Given the description of an element on the screen output the (x, y) to click on. 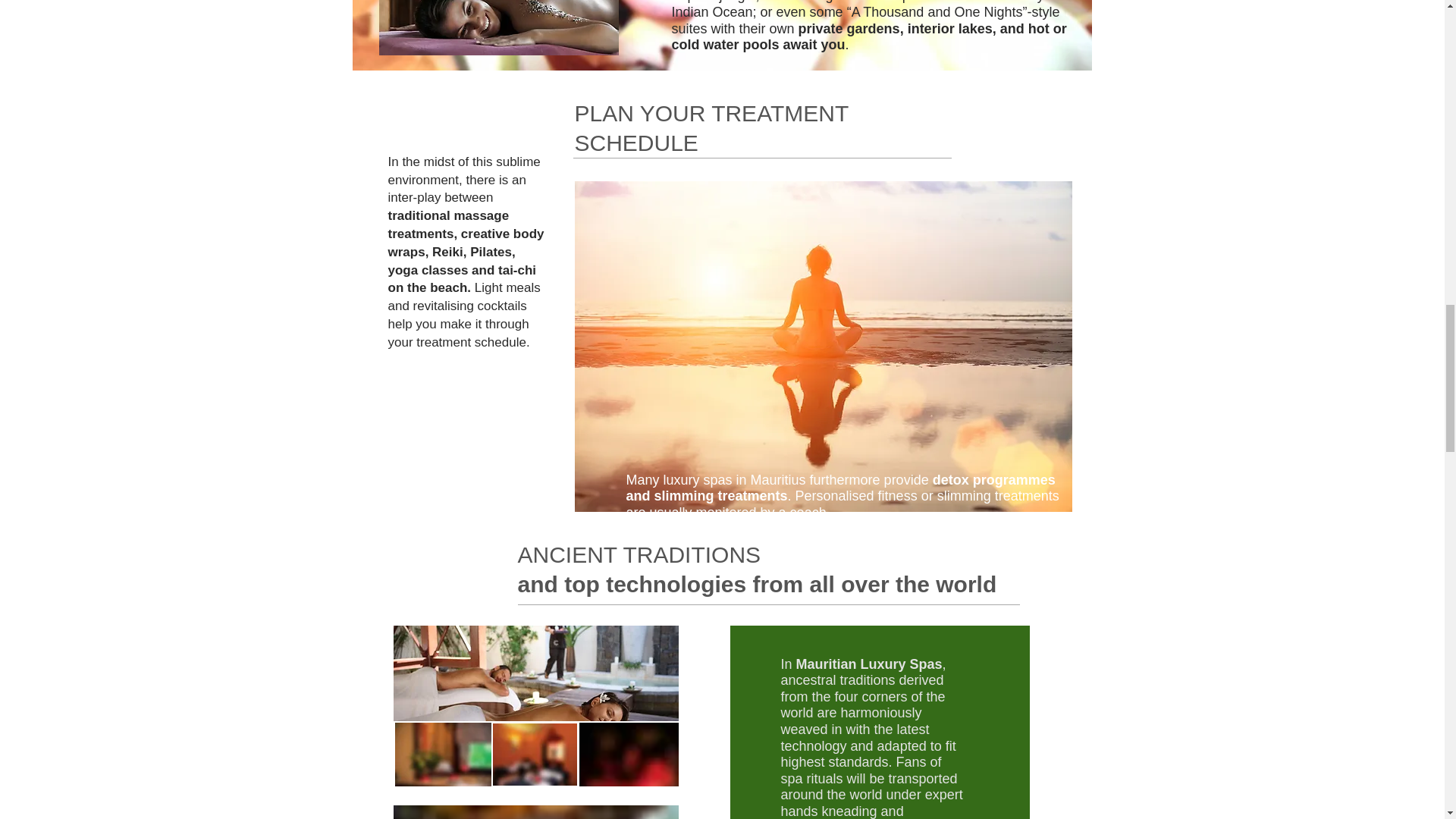
Indian - spa 04.jpg (442, 754)
Indian-massage room02.jpg (535, 754)
Seven colors SPA Mauritius www.emocean.mu (535, 673)
P1190258-sm.jpg (721, 36)
